Given the description of an element on the screen output the (x, y) to click on. 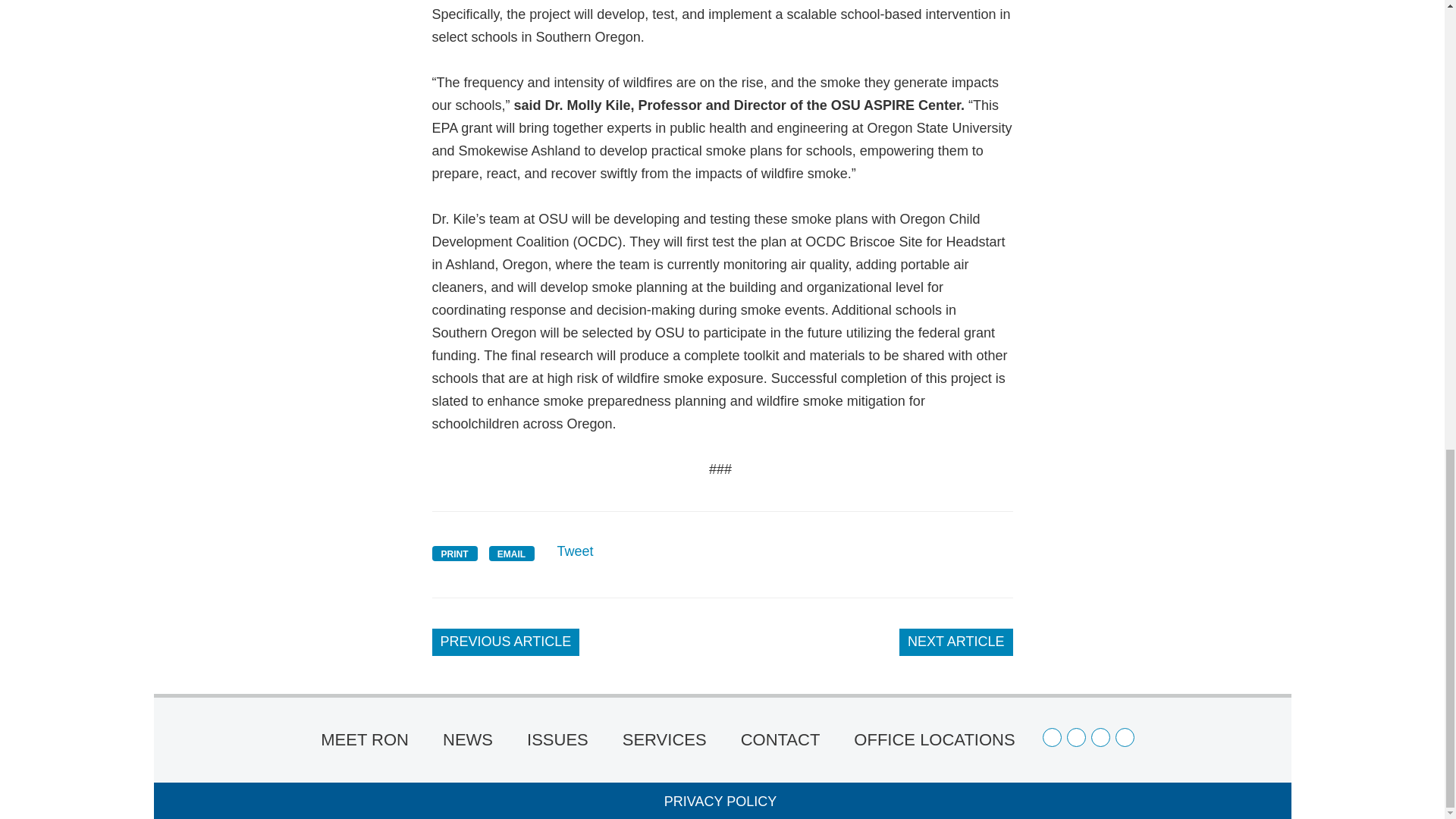
PRINT (454, 553)
EMAIL (511, 553)
